Given the description of an element on the screen output the (x, y) to click on. 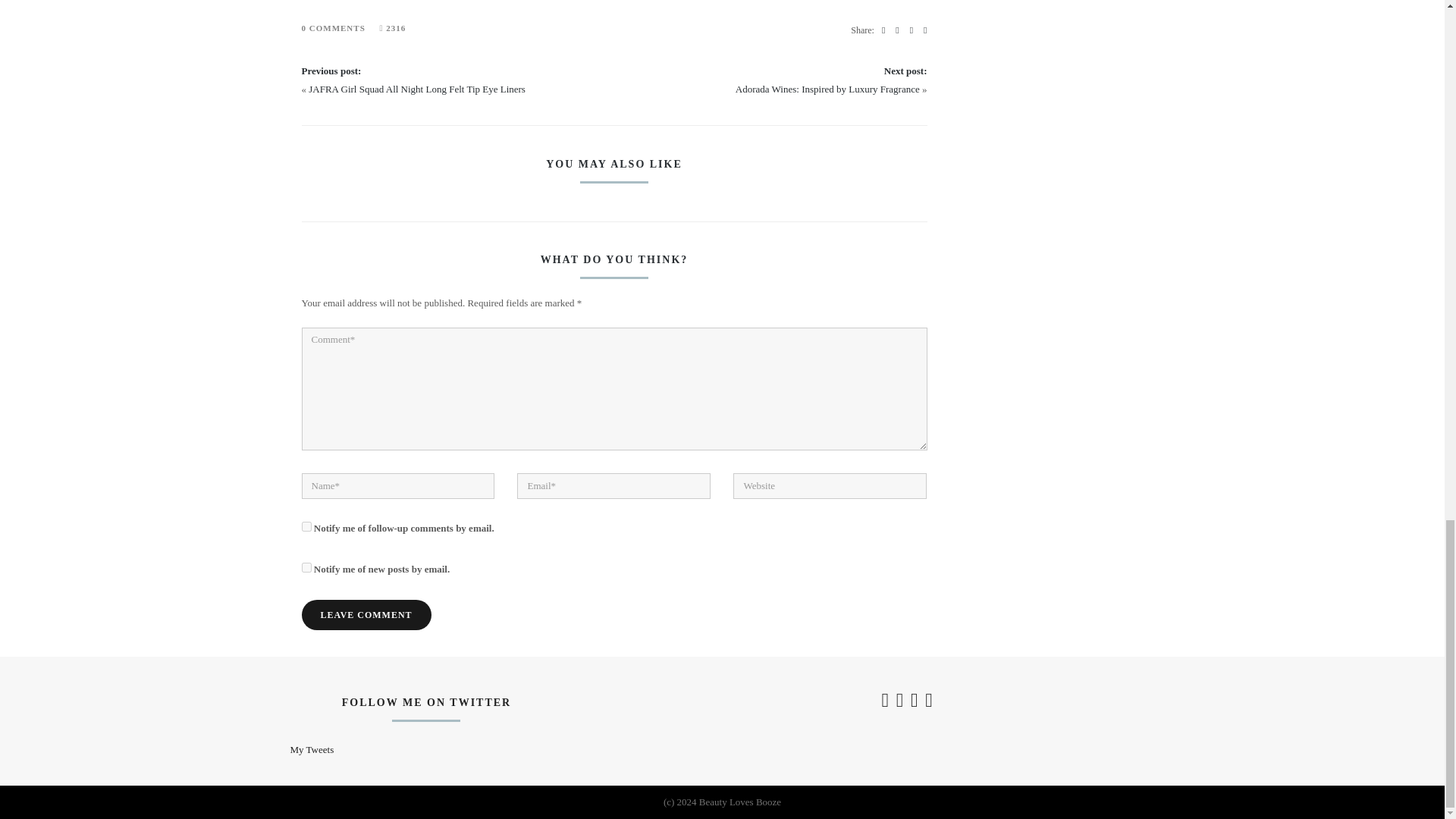
0 COMMENTS (333, 27)
Adorada Wines: Inspired by Luxury Fragrance (827, 89)
Previous post: (331, 70)
subscribe (306, 567)
JAFRA Girl Squad All Night Long Felt Tip Eye Liners (416, 89)
Next post: (905, 70)
subscribe (306, 526)
Leave Comment (365, 614)
